Given the description of an element on the screen output the (x, y) to click on. 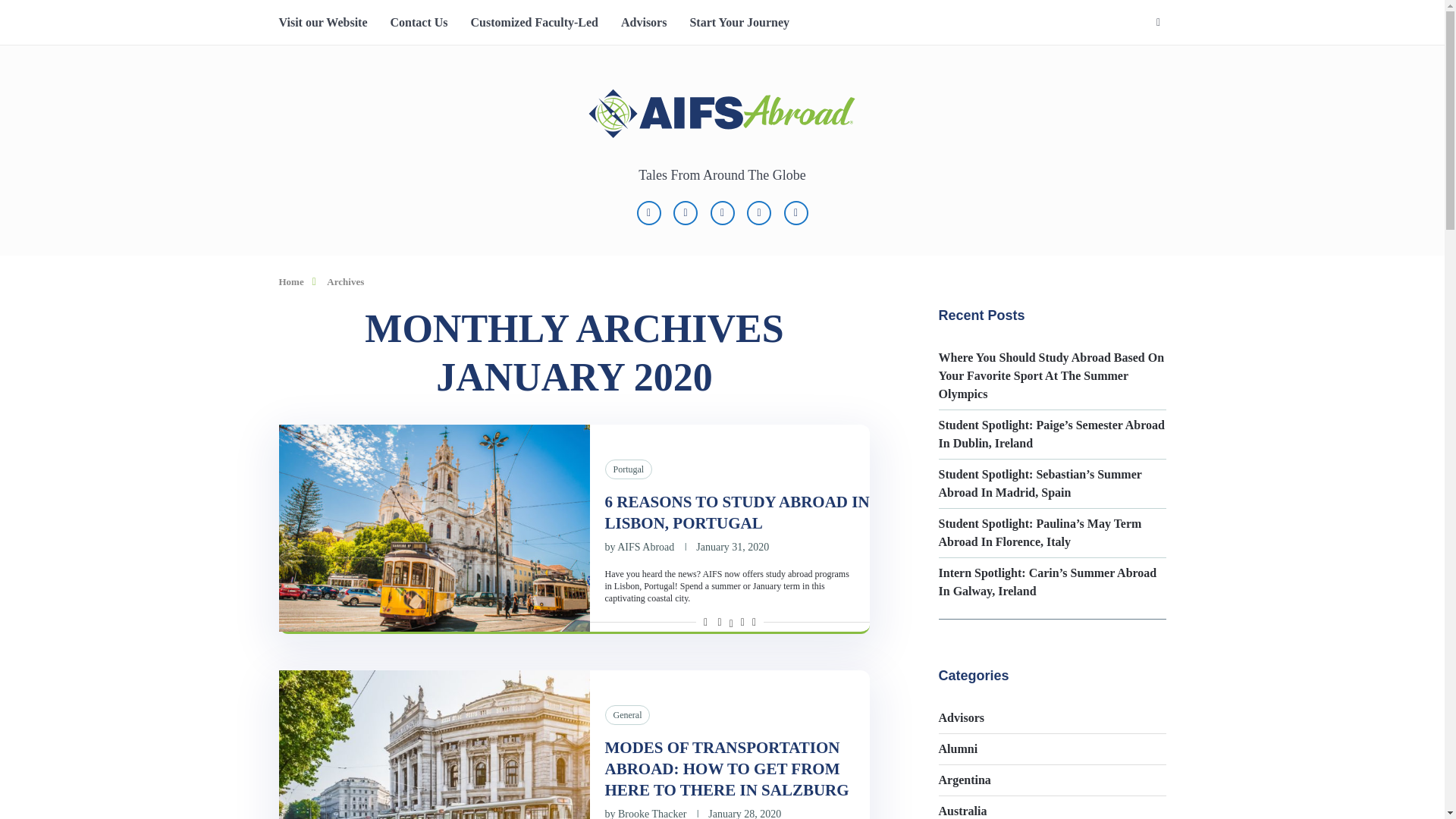
6 REASONS TO STUDY ABROAD IN LISBON, PORTUGAL (737, 512)
Visit our Website (323, 22)
Home (291, 281)
Start Your Journey (738, 22)
Advisors (643, 22)
6 Reasons to Study Abroad in Lisbon, Portugal (434, 528)
Customized Faculty-Led (534, 22)
Brooke Thacker (651, 813)
Contact Us (419, 22)
